Given the description of an element on the screen output the (x, y) to click on. 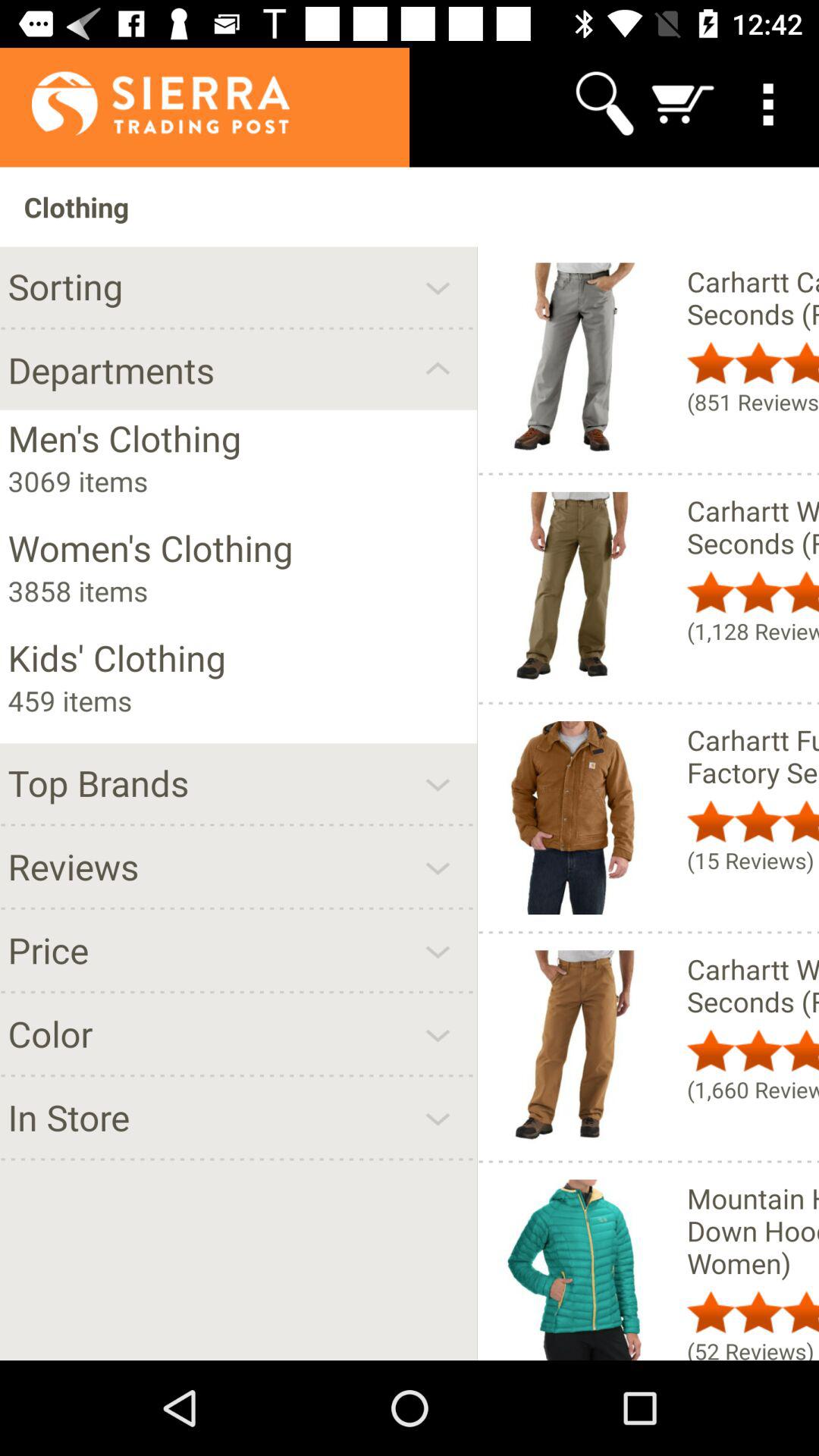
jump until (851 reviews) icon (753, 401)
